Given the description of an element on the screen output the (x, y) to click on. 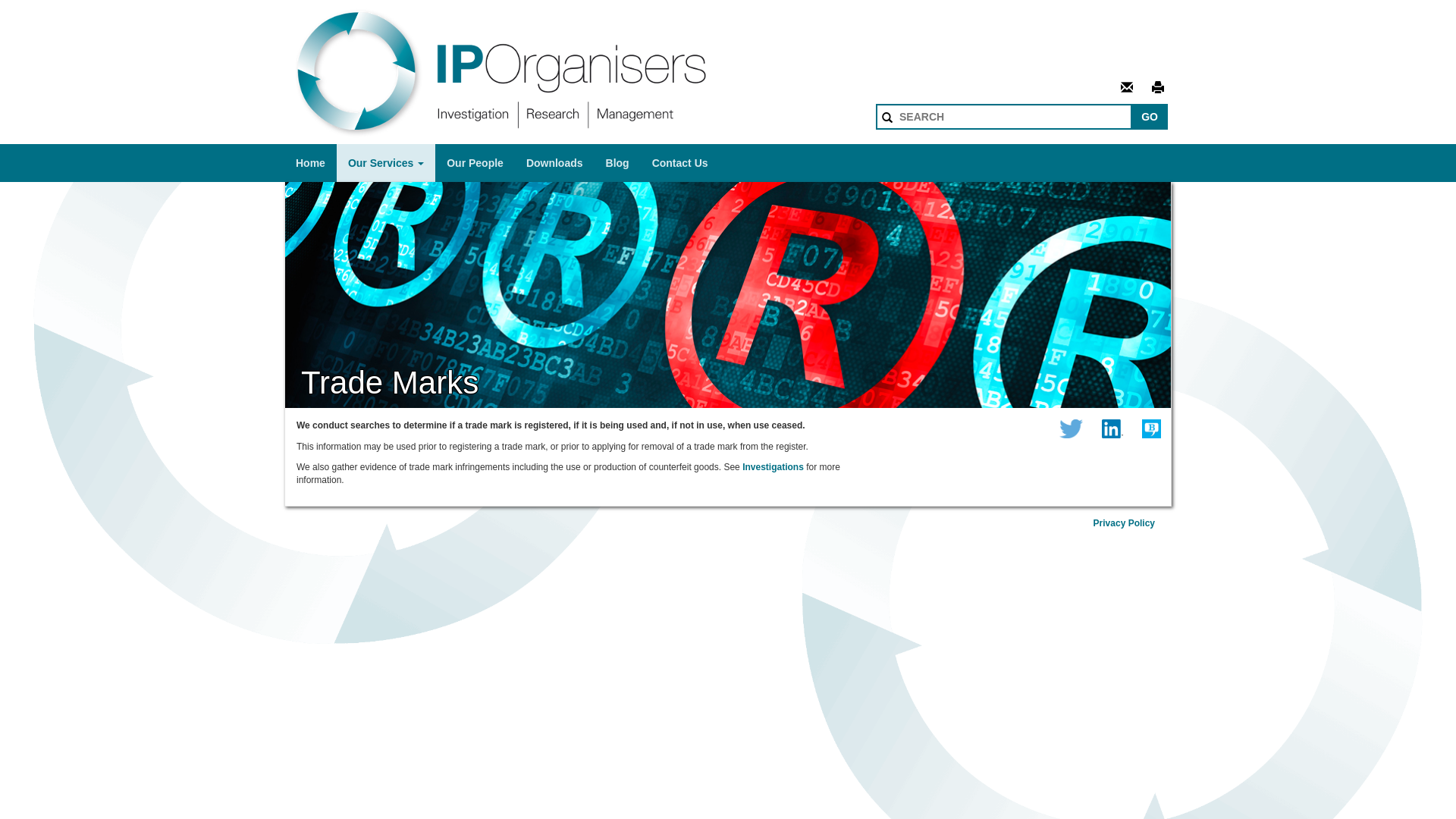
Downloads Element type: text (554, 163)
Contact Us Element type: text (679, 163)
Home Element type: text (310, 163)
Print this page... Element type: hover (1157, 87)
IP Organisers Element type: hover (579, 72)
Our People Element type: text (474, 163)
Blog Element type: text (617, 163)
GO Element type: text (1149, 116)
Our Services Element type: text (385, 163)
Email this page... Element type: hover (1126, 87)
Privacy Policy Element type: text (1123, 522)
Investigations Element type: text (774, 466)
